Given the description of an element on the screen output the (x, y) to click on. 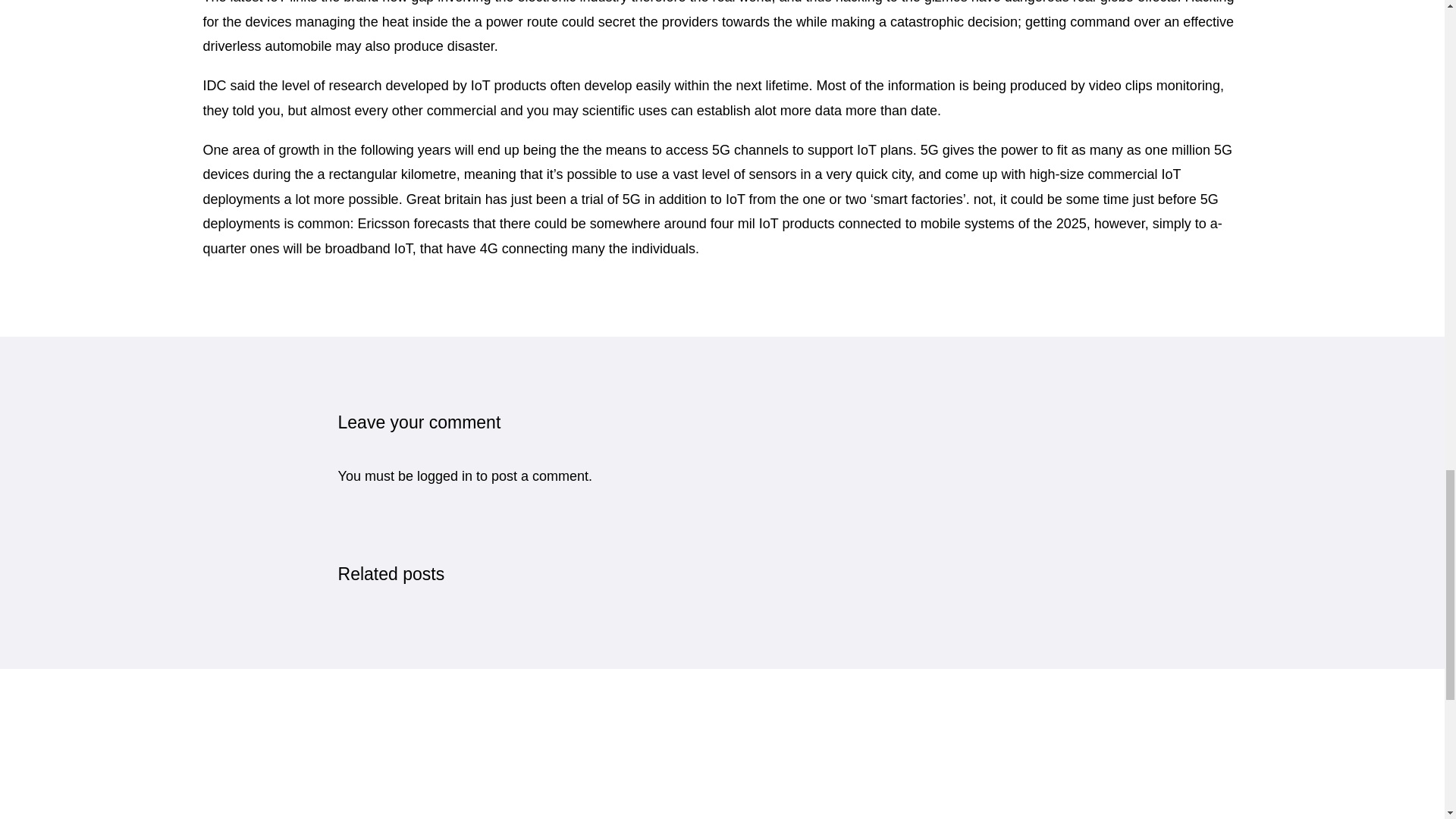
logged in (443, 476)
